Given the description of an element on the screen output the (x, y) to click on. 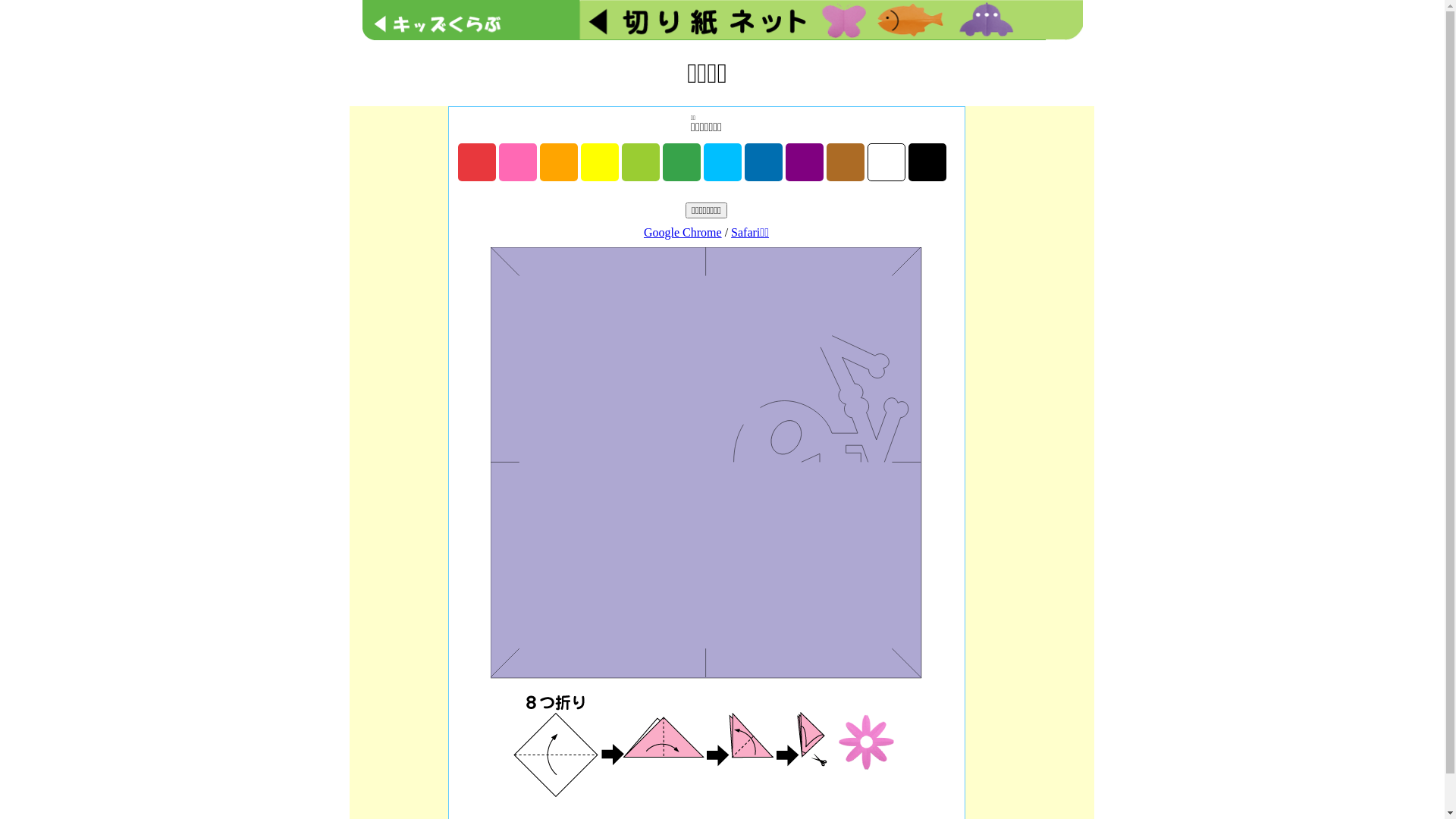
Advertisement Element type: hover (721, 48)
Advertisement Element type: hover (1029, 333)
Google Chrome Element type: text (682, 231)
Advertisement Element type: hover (398, 333)
